Given the description of an element on the screen output the (x, y) to click on. 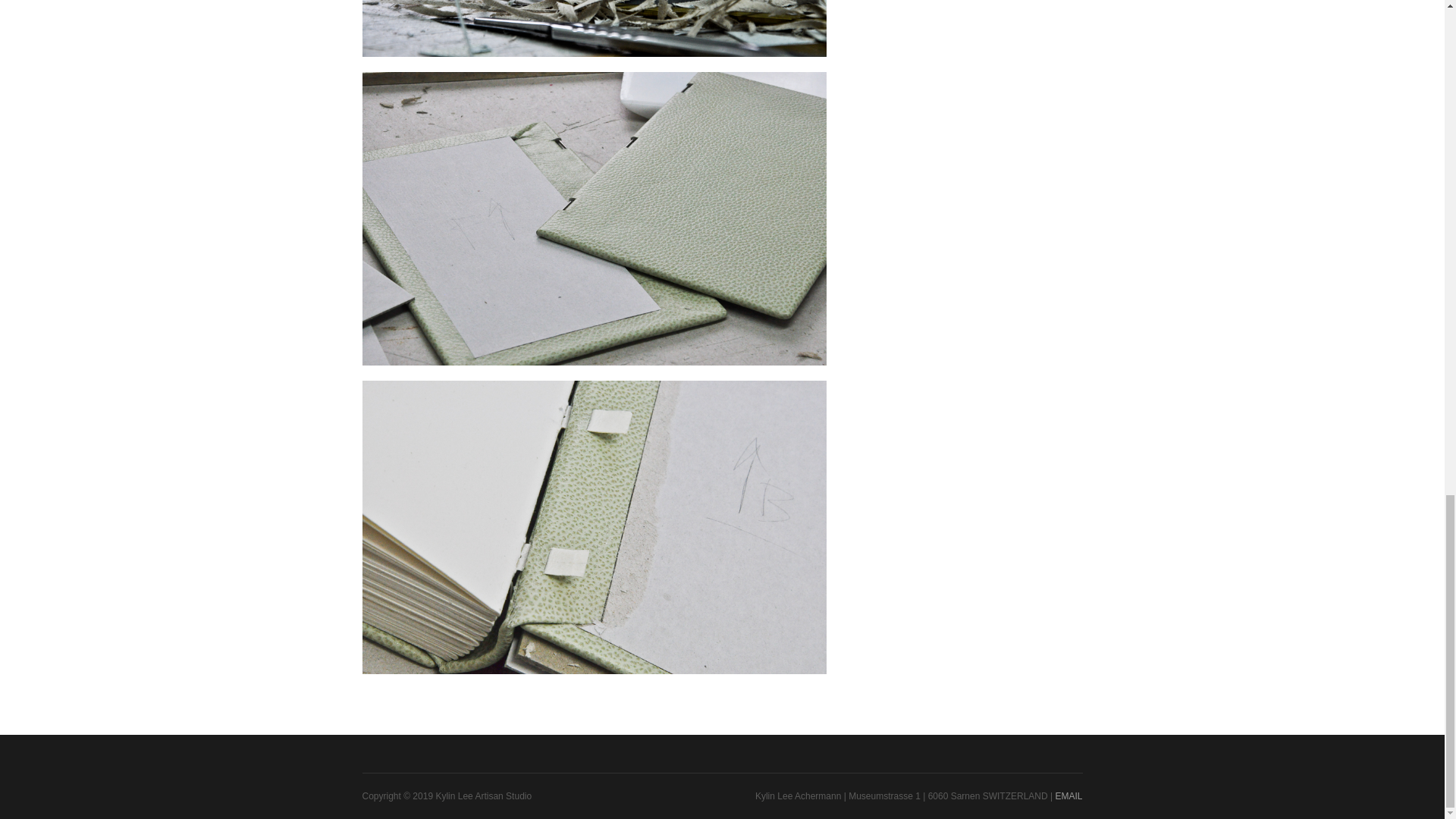
EMAIL (1067, 796)
